Given the description of an element on the screen output the (x, y) to click on. 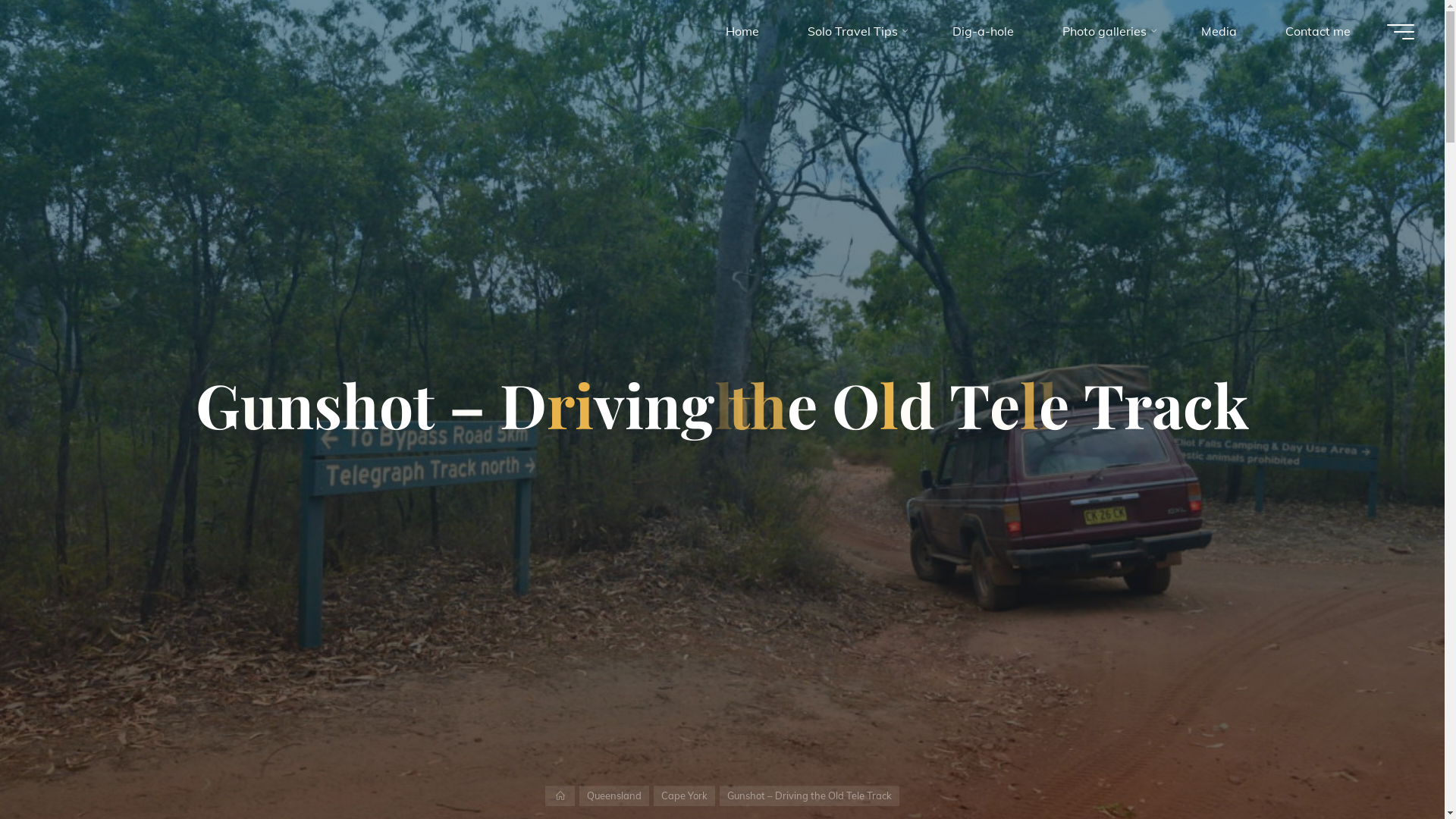
Media Element type: text (1218, 31)
Read more Element type: hover (721, 726)
Cape York Element type: text (684, 795)
Dig-a-hole Element type: text (983, 31)
Queensland Element type: text (614, 795)
Contact me Element type: text (1317, 31)
Photo galleries Element type: text (1107, 31)
Solo Travel Tips Element type: text (855, 31)
Home Element type: text (742, 31)
Home Element type: text (559, 795)
